Given the description of an element on the screen output the (x, y) to click on. 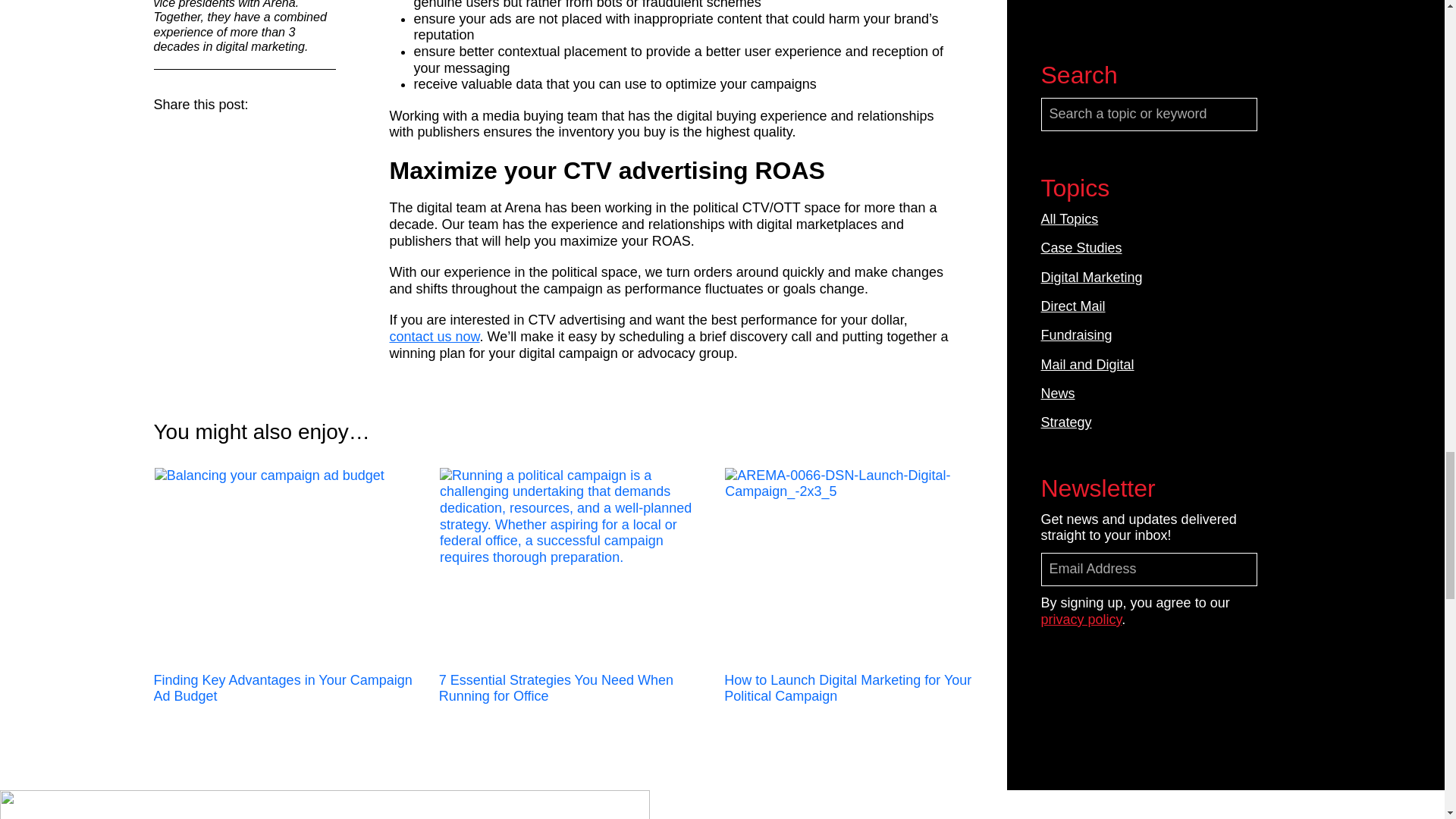
7 Essential Strategies You Need When Running for Office (571, 566)
Finding Key Advantages in Your Campaign Ad Budget (286, 589)
How to Launch Digital Marketing for Your Political Campaign (857, 589)
How to Launch Digital Marketing for Your Political Campaign (857, 566)
Finding Key Advantages in Your Campaign Ad Budget (287, 566)
7 Essential Strategies You Need When Running for Office (572, 589)
contact us now (435, 336)
